Given the description of an element on the screen output the (x, y) to click on. 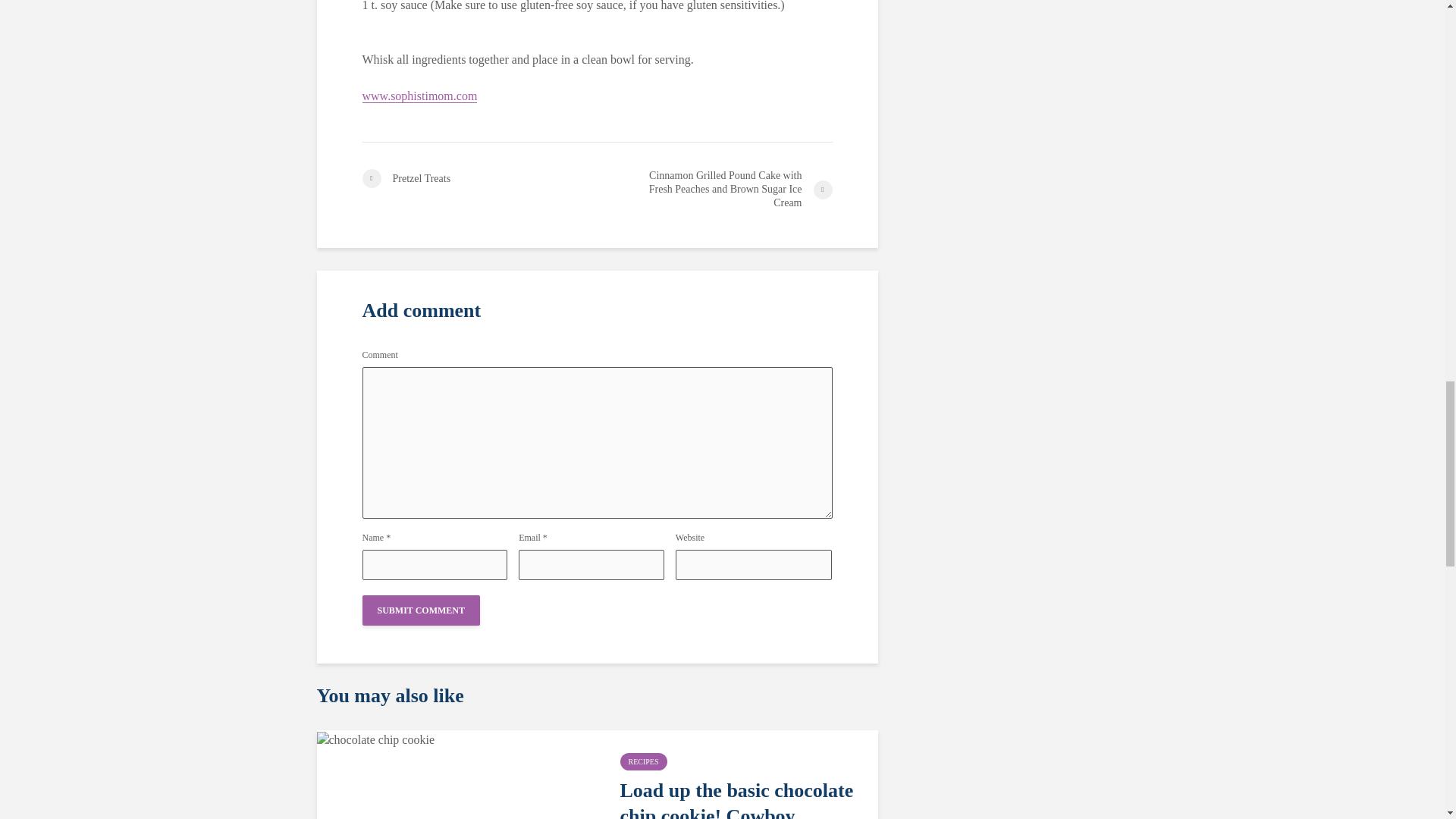
RECIPES (643, 761)
www.sophistimom.com (419, 96)
Pretzel Treats (479, 178)
Submit Comment (421, 610)
Submit Comment (421, 610)
